Given the description of an element on the screen output the (x, y) to click on. 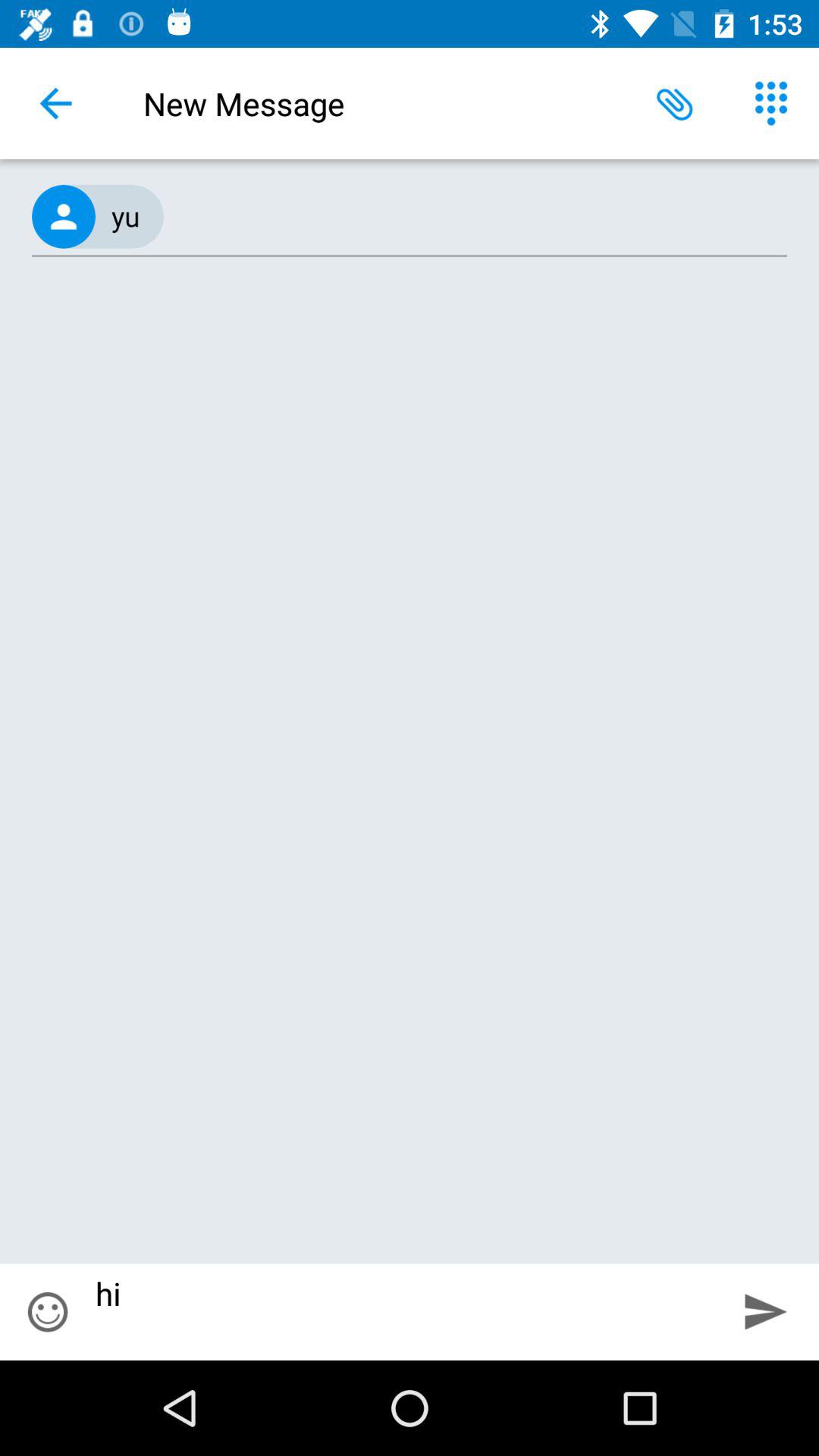
tap item to the left of hi
 icon (47, 1311)
